Given the description of an element on the screen output the (x, y) to click on. 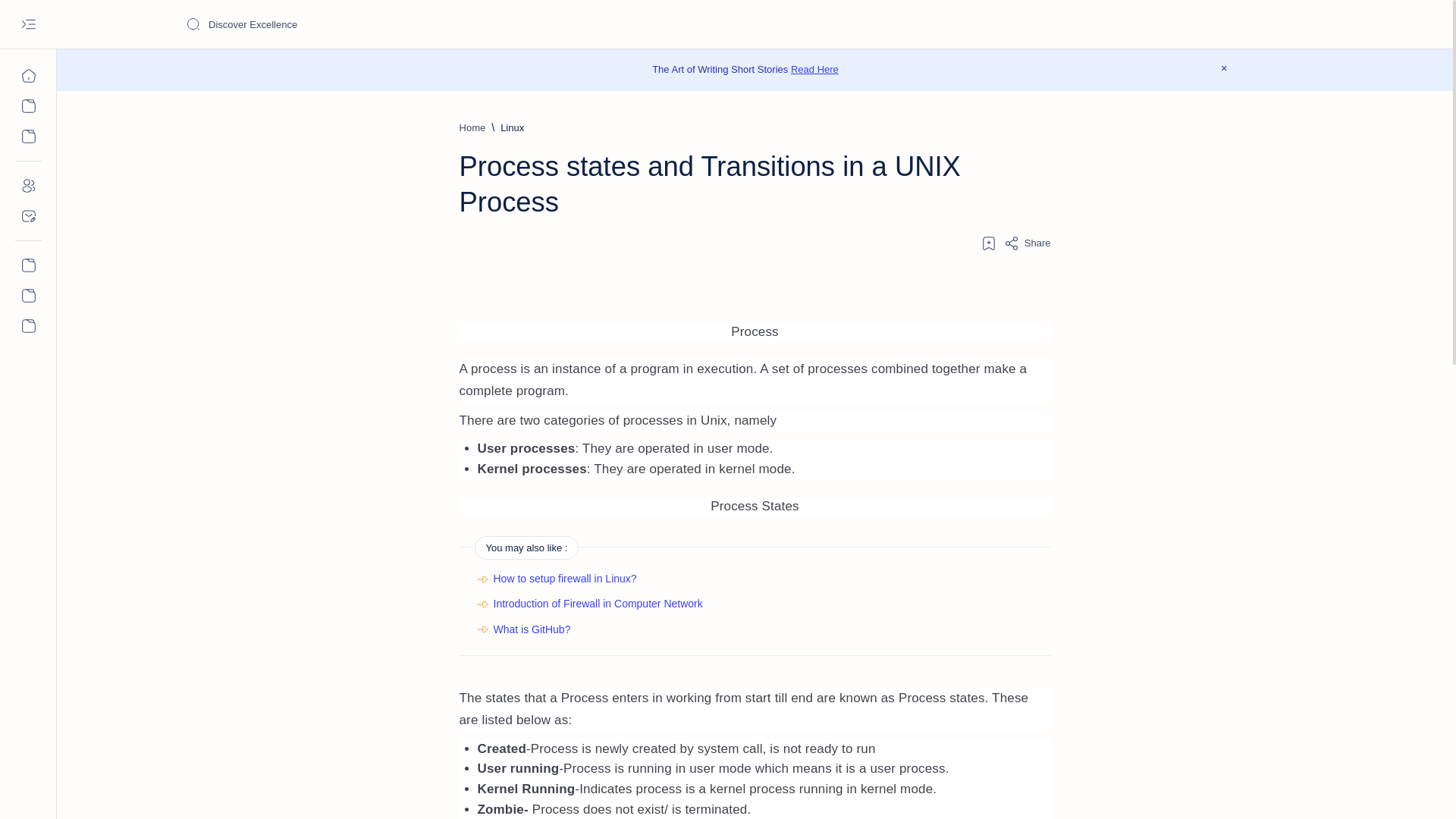
How to setup firewall in Linux? (564, 578)
What is GitHub? (531, 629)
Introduction of Firewall in Computer Network (597, 603)
Read Here (814, 69)
Add to bookmark (988, 242)
Linux (512, 127)
Home (473, 127)
